Given the description of an element on the screen output the (x, y) to click on. 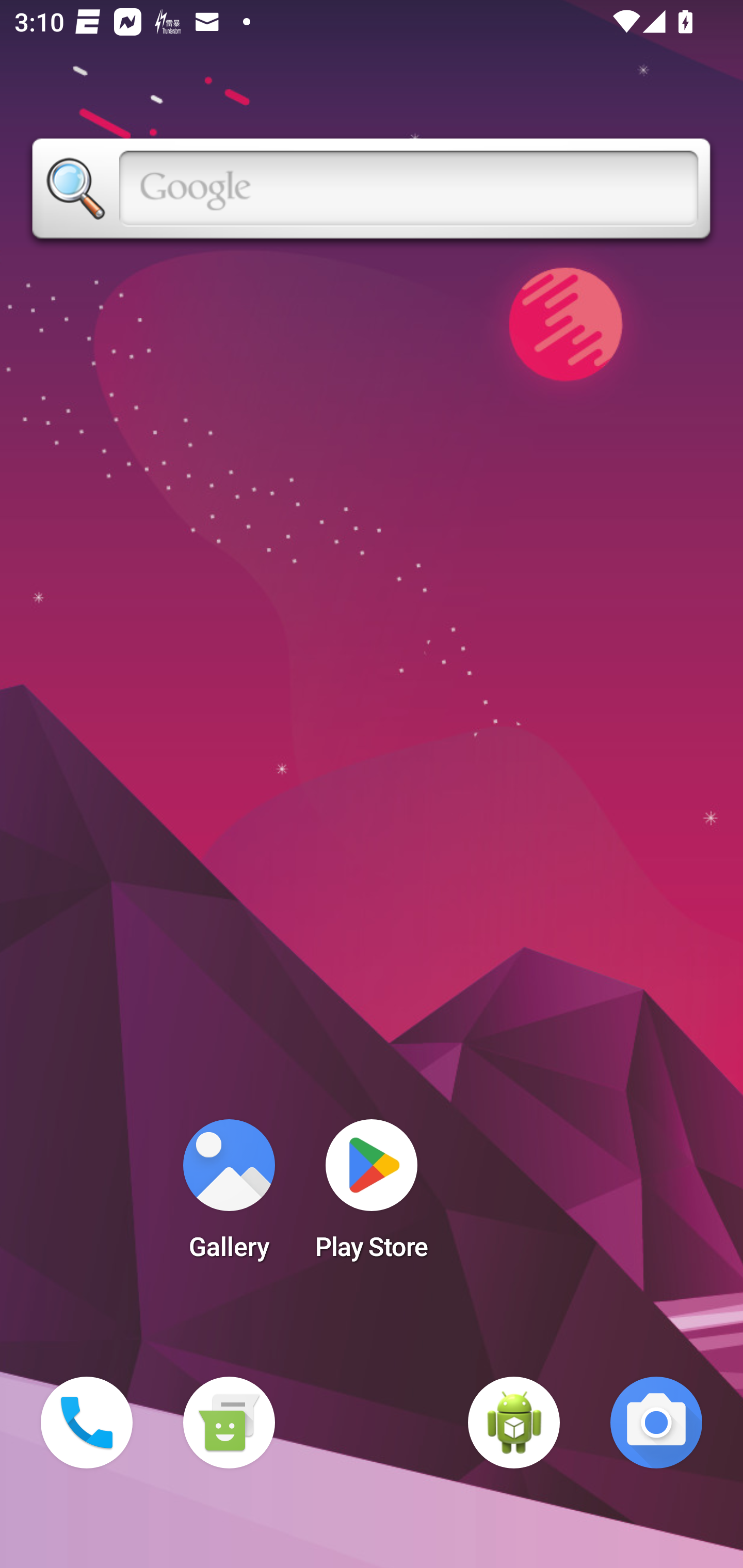
Gallery (228, 1195)
Play Store (371, 1195)
Phone (86, 1422)
Messaging (228, 1422)
WebView Browser Tester (513, 1422)
Camera (656, 1422)
